Given the description of an element on the screen output the (x, y) to click on. 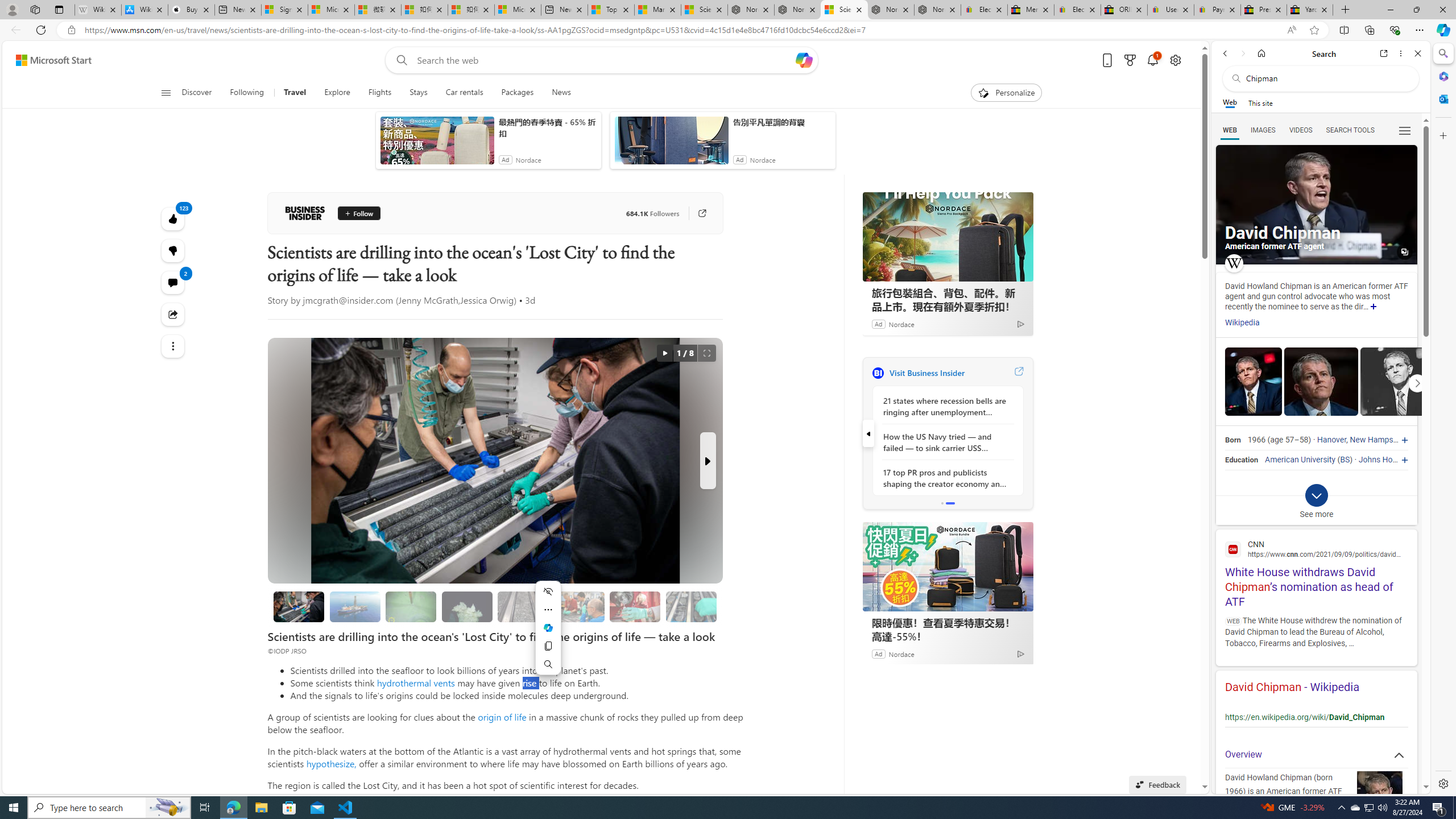
View details (1396, 382)
Looking for evidence of oxygen-free life (578, 606)
Mini menu on text selection (547, 634)
VIDEOS (1300, 130)
Search Filter, IMAGES (1262, 129)
123 Like (172, 218)
CNN (1315, 548)
Class: at-item (172, 345)
Search Filter, WEB (1230, 129)
Search Filter, Search Tools (1350, 129)
Wikipedia (1241, 322)
New Hampshire (1377, 439)
